Given the description of an element on the screen output the (x, y) to click on. 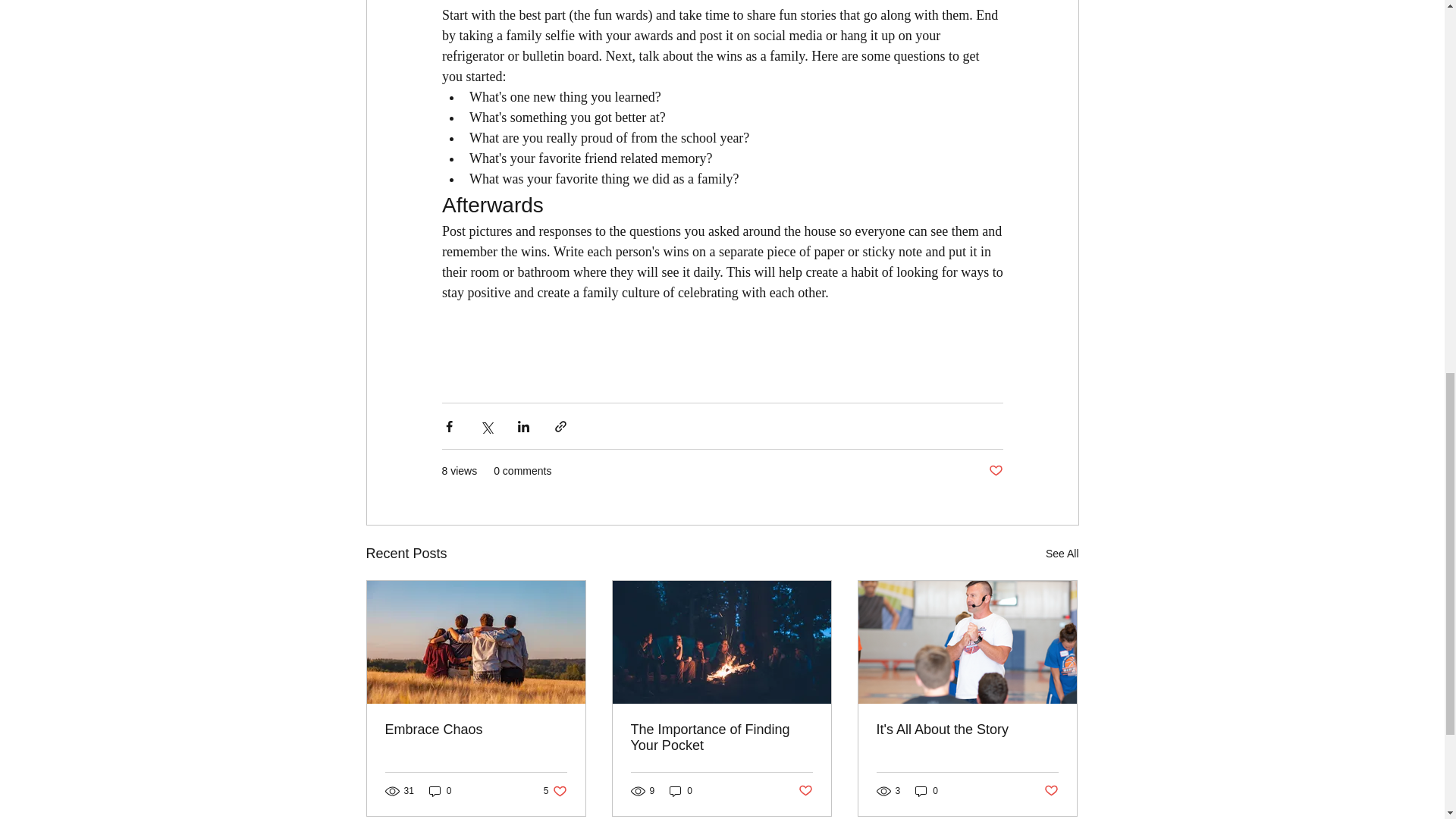
0 (440, 790)
See All (1061, 553)
Post not marked as liked (995, 471)
The Importance of Finding Your Pocket (721, 737)
Embrace Chaos (476, 729)
Post not marked as liked (1050, 790)
0 (681, 790)
Post not marked as liked (555, 790)
It's All About the Story (804, 790)
